Given the description of an element on the screen output the (x, y) to click on. 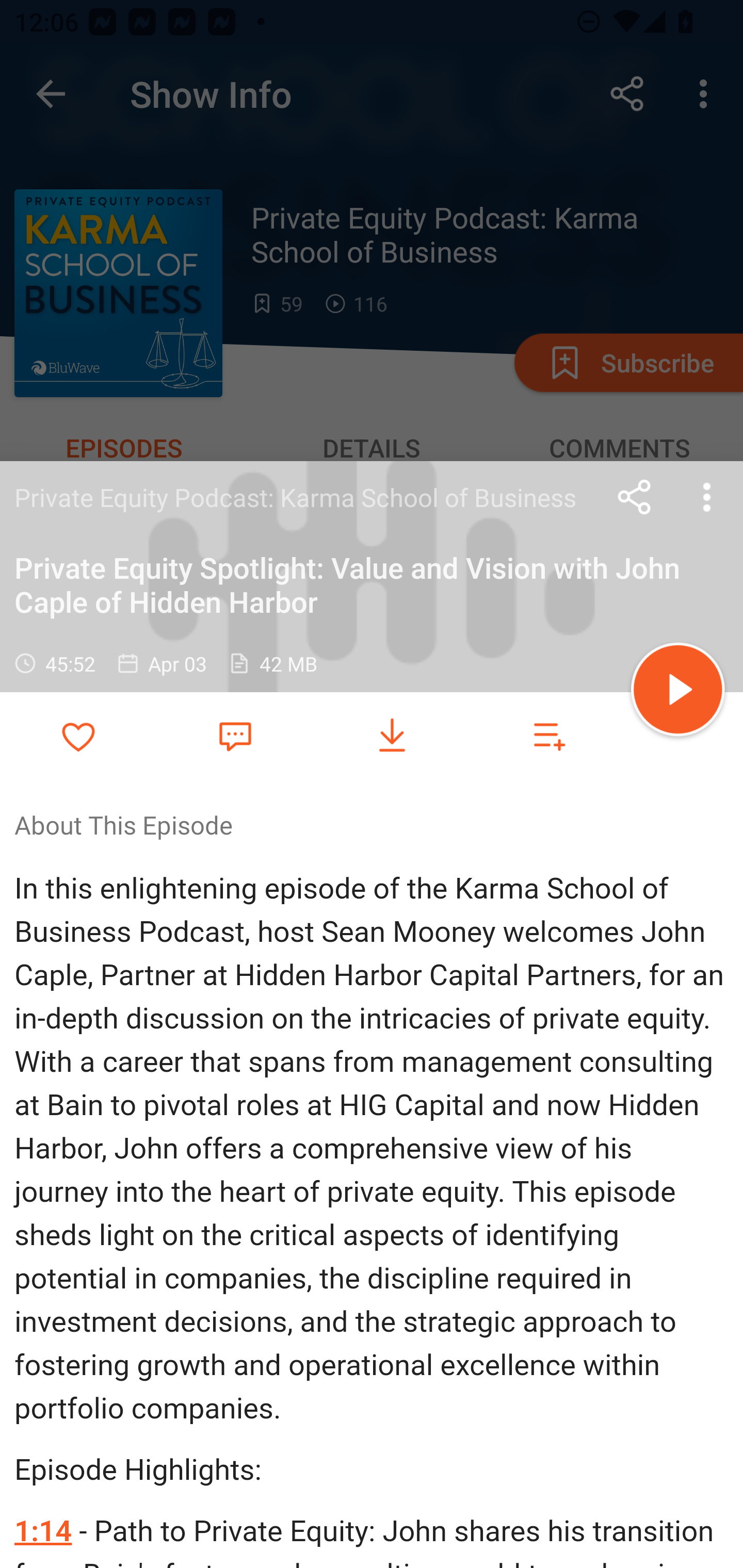
Share (634, 496)
more options (706, 496)
Play (677, 692)
Favorite (234, 735)
Add to Favorites (78, 735)
Download (391, 735)
Add to playlist (548, 735)
1:14 (43, 1531)
